Given the description of an element on the screen output the (x, y) to click on. 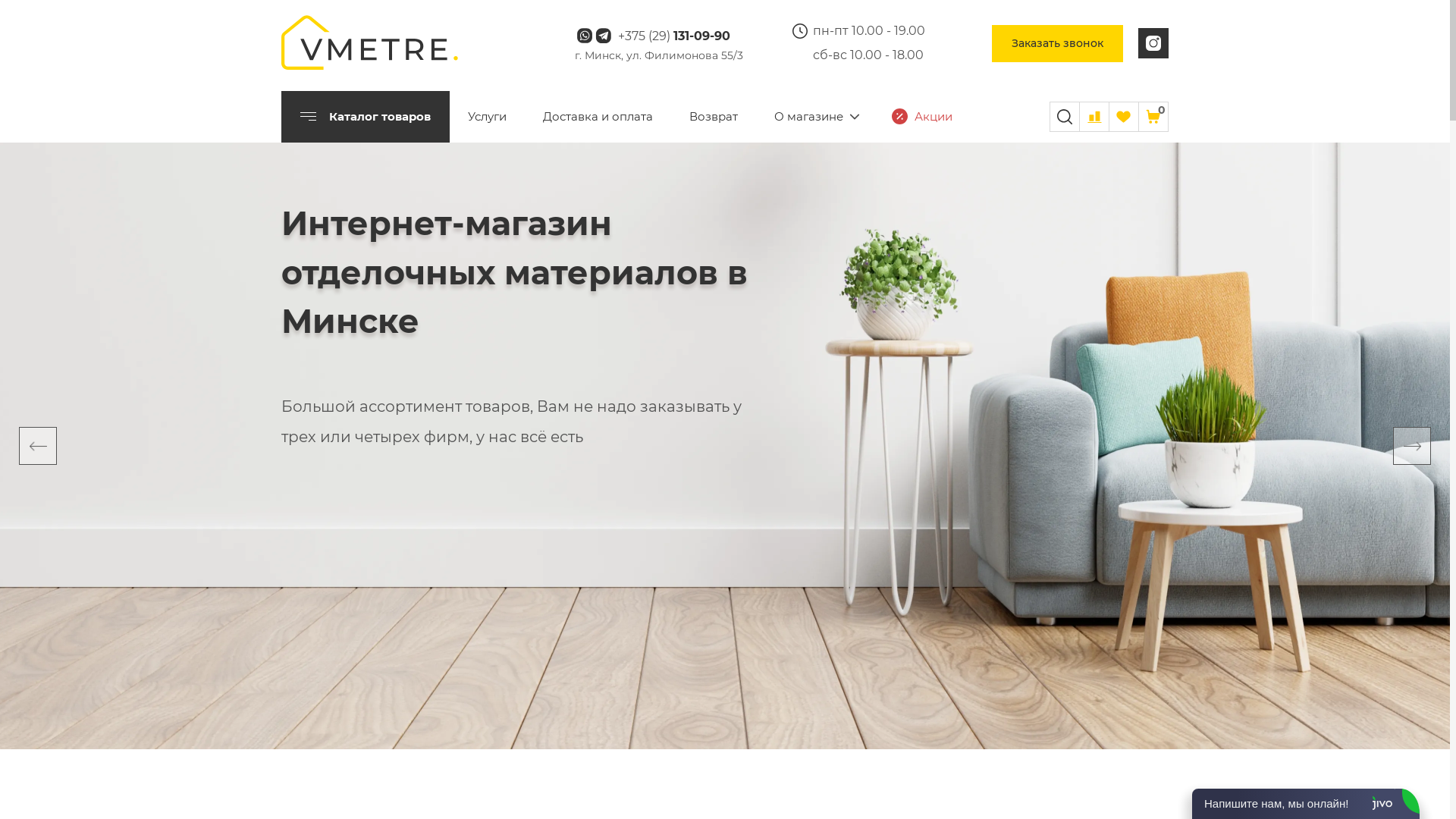
+375 (29) 131-09-90 Element type: text (673, 36)
0 Element type: text (1153, 116)
